Given the description of an element on the screen output the (x, y) to click on. 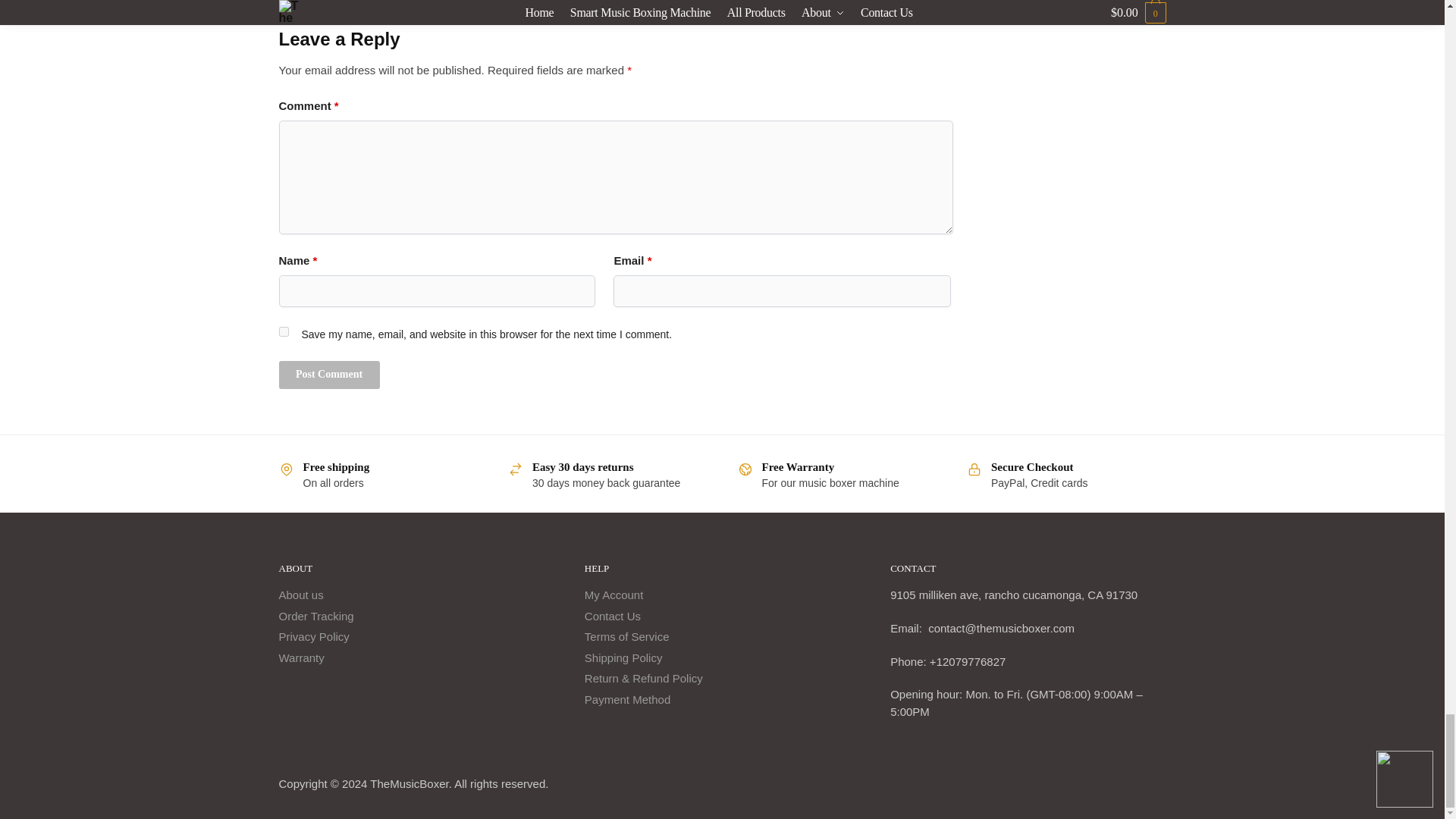
yes (283, 331)
Post Comment (329, 375)
Post Comment (329, 375)
